Given the description of an element on the screen output the (x, y) to click on. 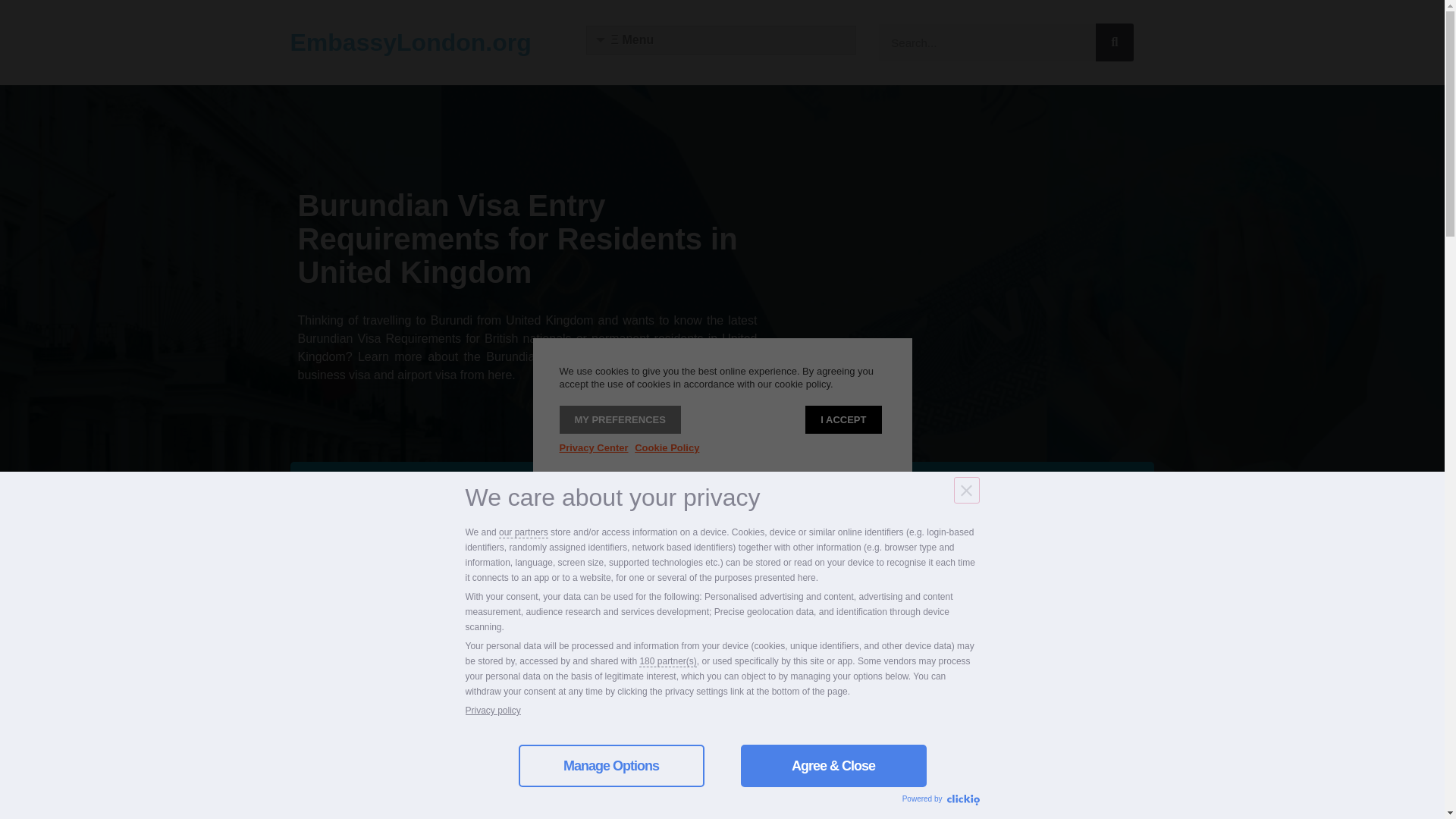
Clickio (962, 800)
Reject all and Close (966, 489)
Burundian Visa Forms (721, 497)
Types of Visas (433, 497)
Travel Information (1009, 497)
